Given the description of an element on the screen output the (x, y) to click on. 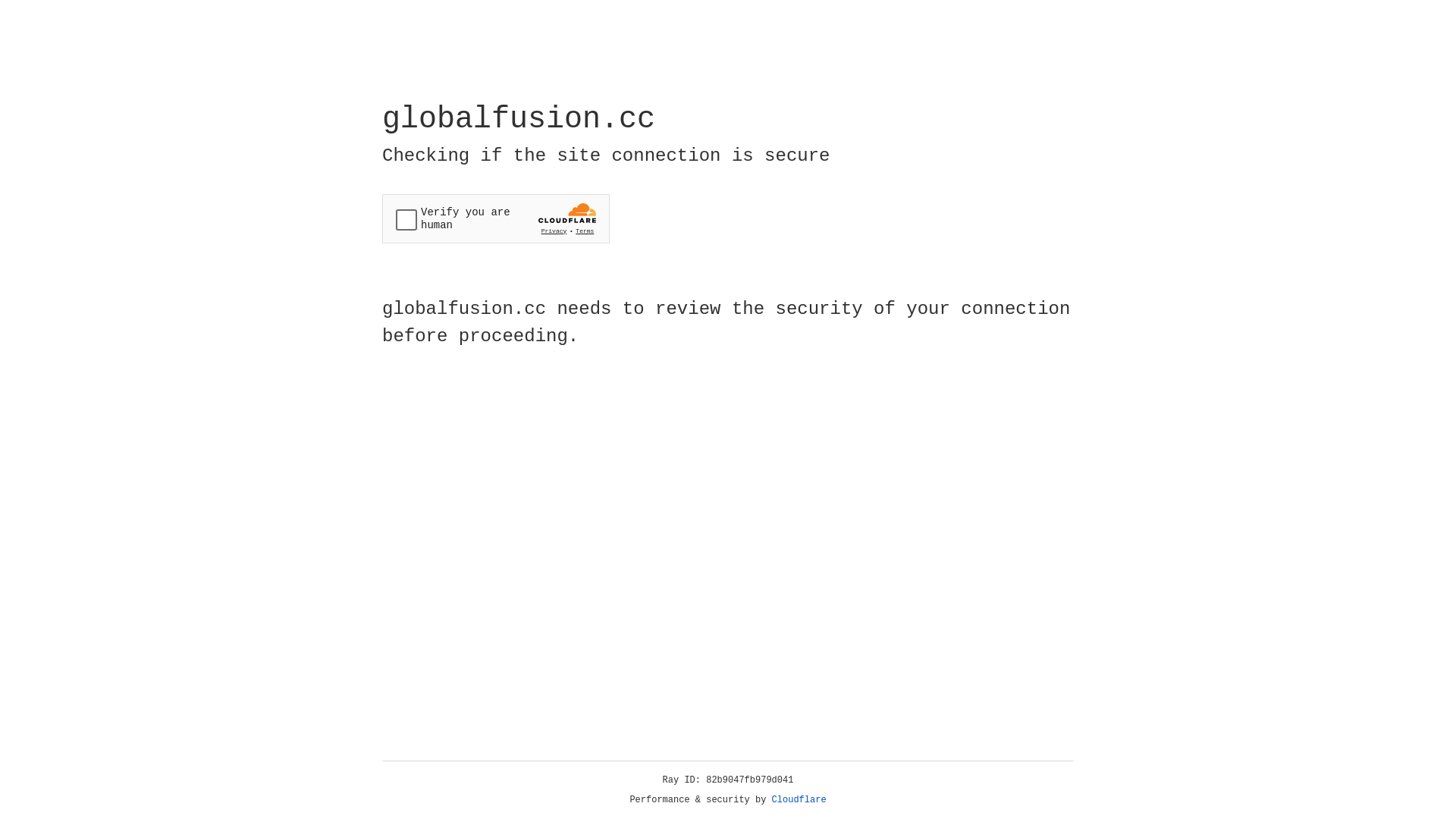
Cloudflare Element type: text (798, 799)
Widget containing a Cloudflare security challenge Element type: hover (495, 218)
